Given the description of an element on the screen output the (x, y) to click on. 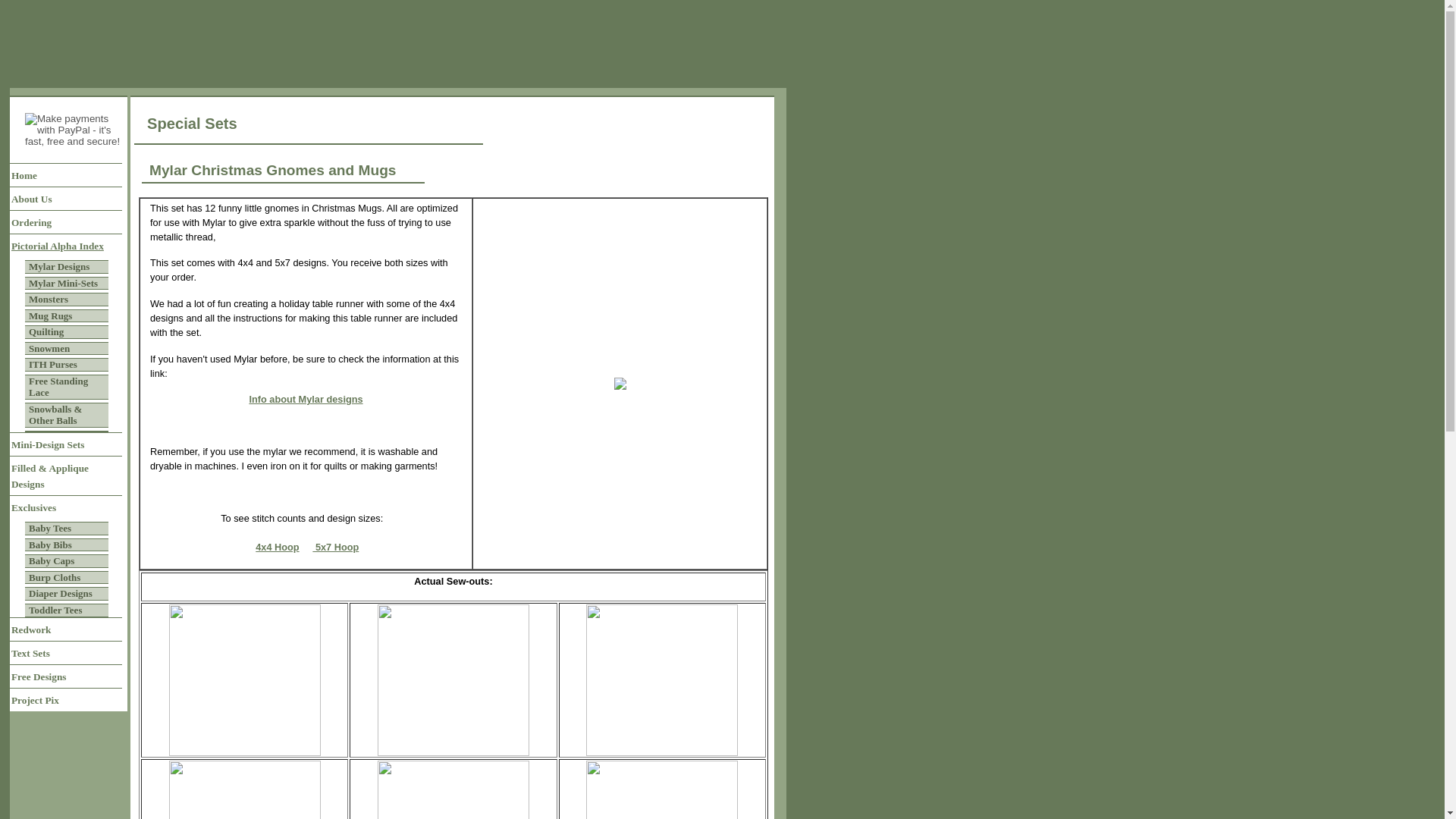
Baby Bibs (65, 545)
Quilting (65, 332)
Toddler Tees (65, 610)
Text Sets (66, 652)
Free Designs (66, 675)
ITH Purses (65, 364)
Project Pix (66, 699)
Mylar Mini-Sets (65, 282)
Redwork (66, 628)
Mug Rugs (65, 315)
